Given the description of an element on the screen output the (x, y) to click on. 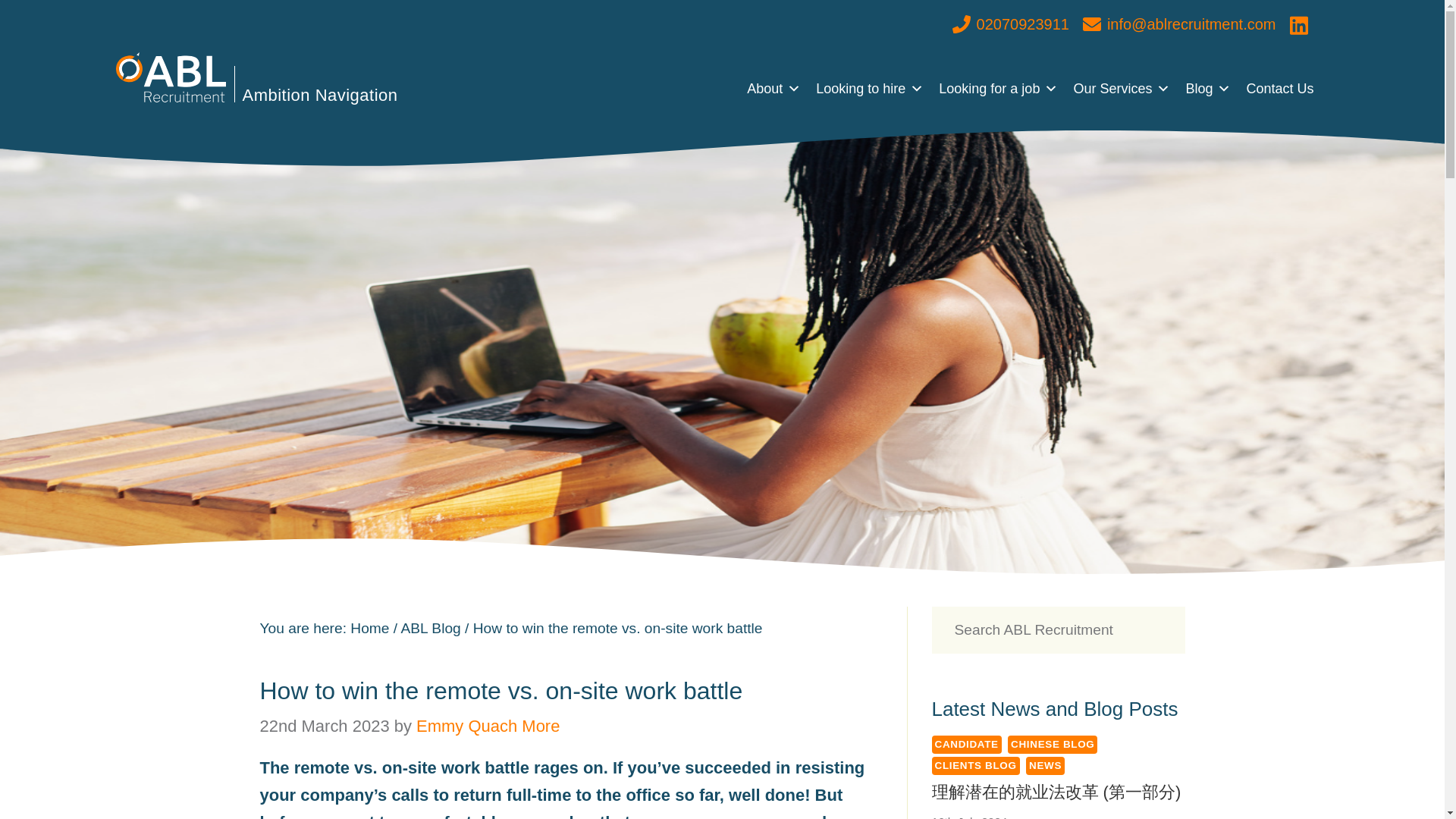
View Job (863, 167)
Our Services (1121, 88)
Looking for a job (998, 88)
02070923911 (1010, 24)
ABL Recruitment (170, 77)
Visit us on LinkedIn (1297, 24)
Looking to hire (869, 88)
About (773, 88)
